Given the description of an element on the screen output the (x, y) to click on. 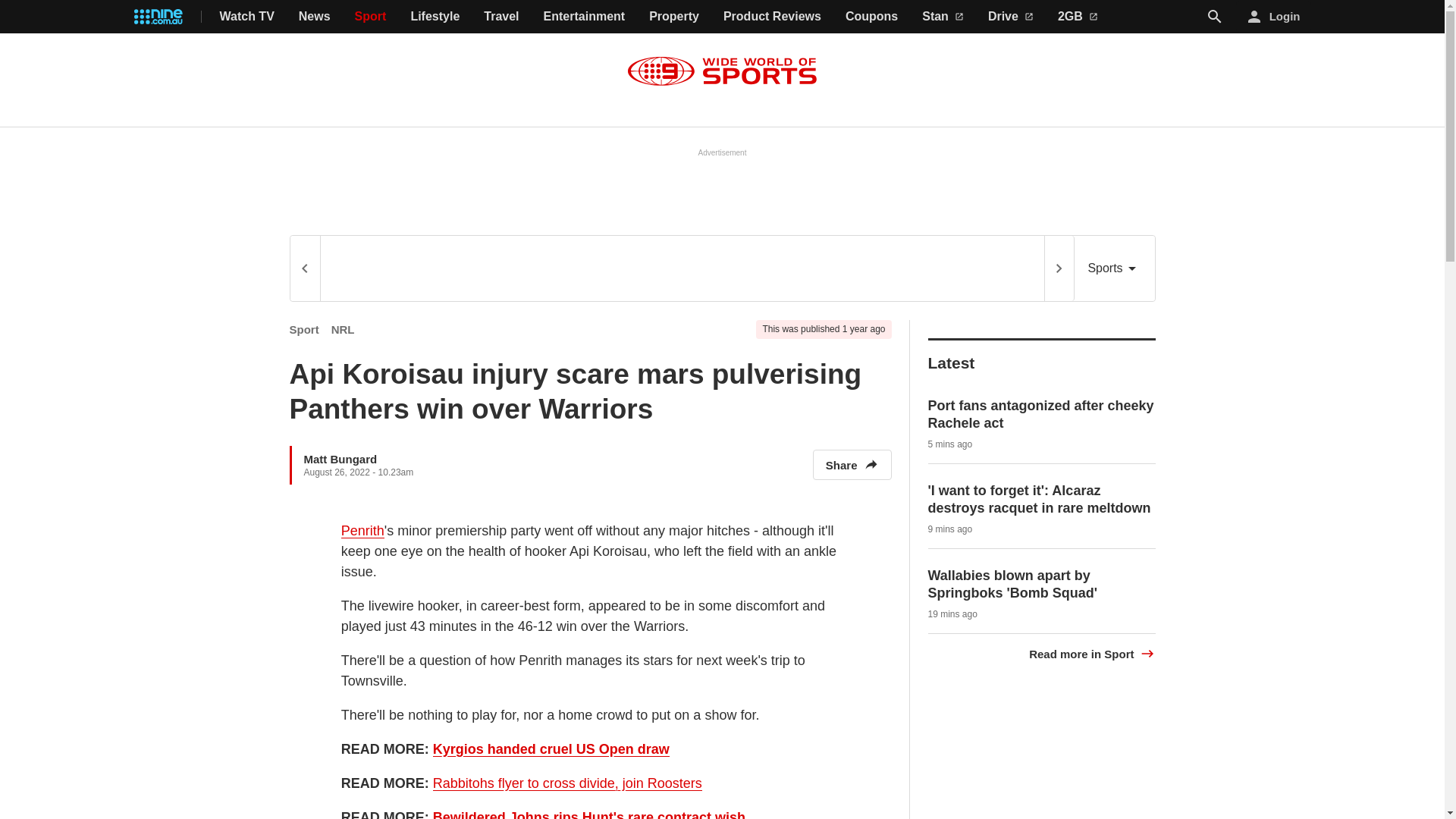
Share (851, 464)
Penrith (362, 530)
Entertainment (584, 16)
Login (1273, 16)
Search (1214, 16)
Sport (371, 16)
Stan (942, 16)
Bewildered Johns rips Hunt's rare contract wish (588, 814)
Coupons (871, 16)
Lifestyle (435, 16)
